Given the description of an element on the screen output the (x, y) to click on. 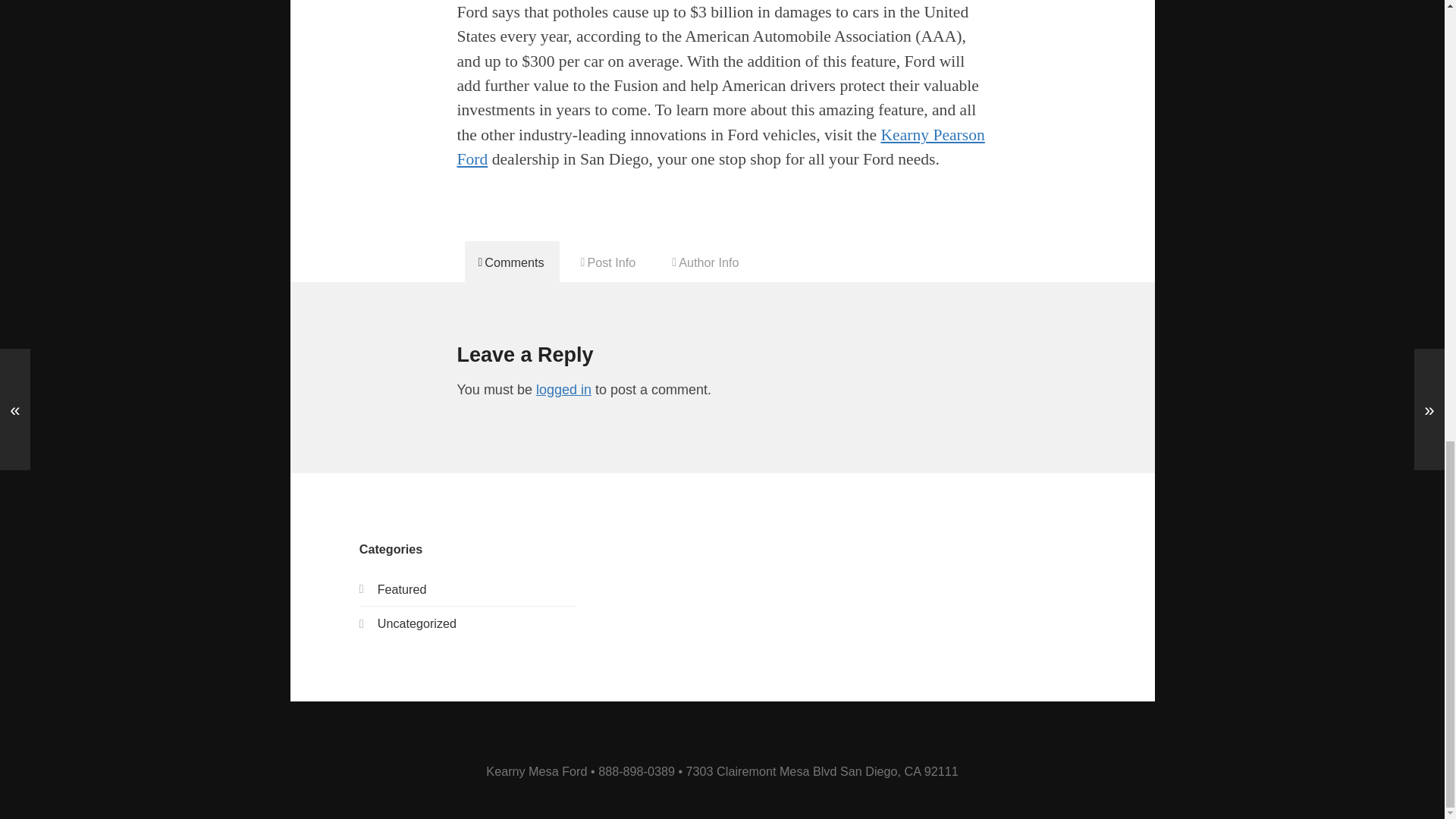
logged in (563, 389)
Kearny Pearson Ford (720, 147)
Featured (401, 589)
Comments (511, 260)
Uncategorized (417, 622)
Author Info (706, 260)
Post Info (608, 260)
